Given the description of an element on the screen output the (x, y) to click on. 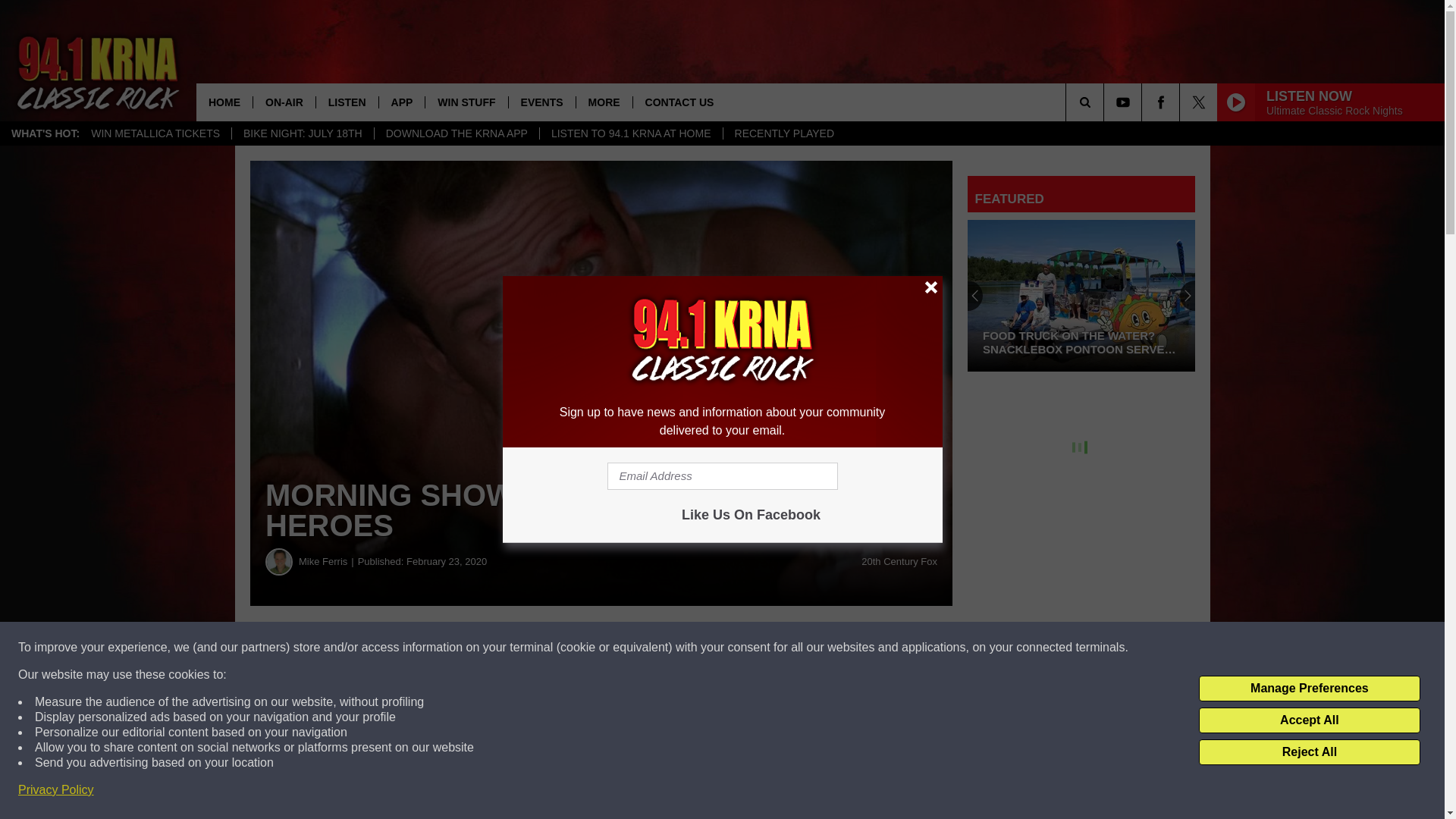
SEARCH (1106, 102)
WIN METALLICA TICKETS (155, 133)
LISTEN TO 94.1 KRNA AT HOME (630, 133)
BIKE NIGHT: JULY 18TH (302, 133)
Share on Twitter (741, 647)
Manage Preferences (1309, 688)
DOWNLOAD THE KRNA APP (456, 133)
Privacy Policy (55, 789)
Email Address (722, 475)
LISTEN (346, 102)
Share on Facebook (460, 647)
Accept All (1309, 720)
WIN STUFF (465, 102)
EVENTS (541, 102)
Reject All (1309, 751)
